Given the description of an element on the screen output the (x, y) to click on. 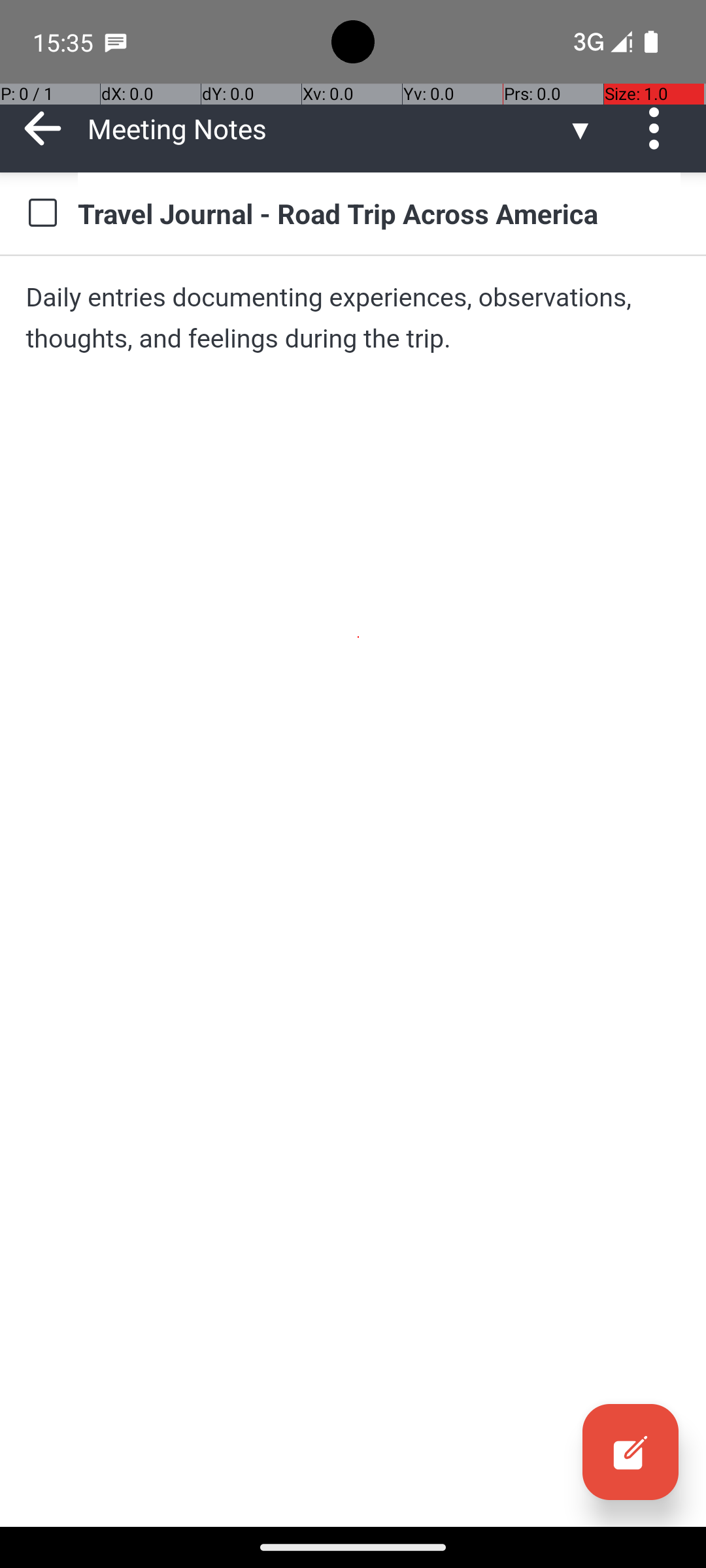
Travel Journal - Road Trip Across America Element type: android.widget.EditText (378, 213)
Meeting Notes Element type: android.widget.TextView (326, 128)
Daily entries documenting experiences, observations, thoughts, and feelings during the trip. Element type: android.widget.TextView (352, 317)
